Given the description of an element on the screen output the (x, y) to click on. 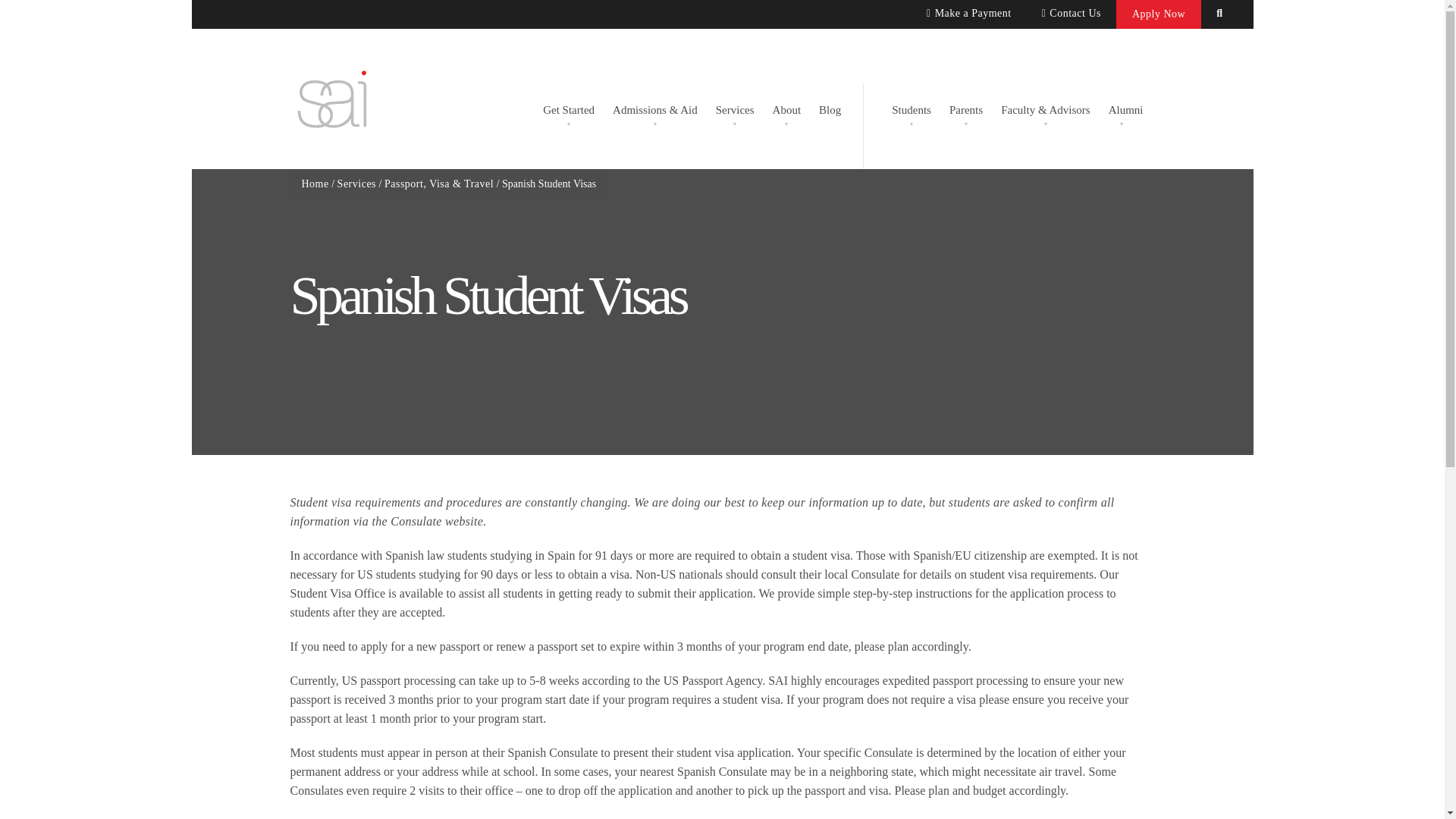
Apply Now (1158, 14)
Contact Us (1071, 13)
Get Started (569, 108)
Make a Payment (968, 13)
